Given the description of an element on the screen output the (x, y) to click on. 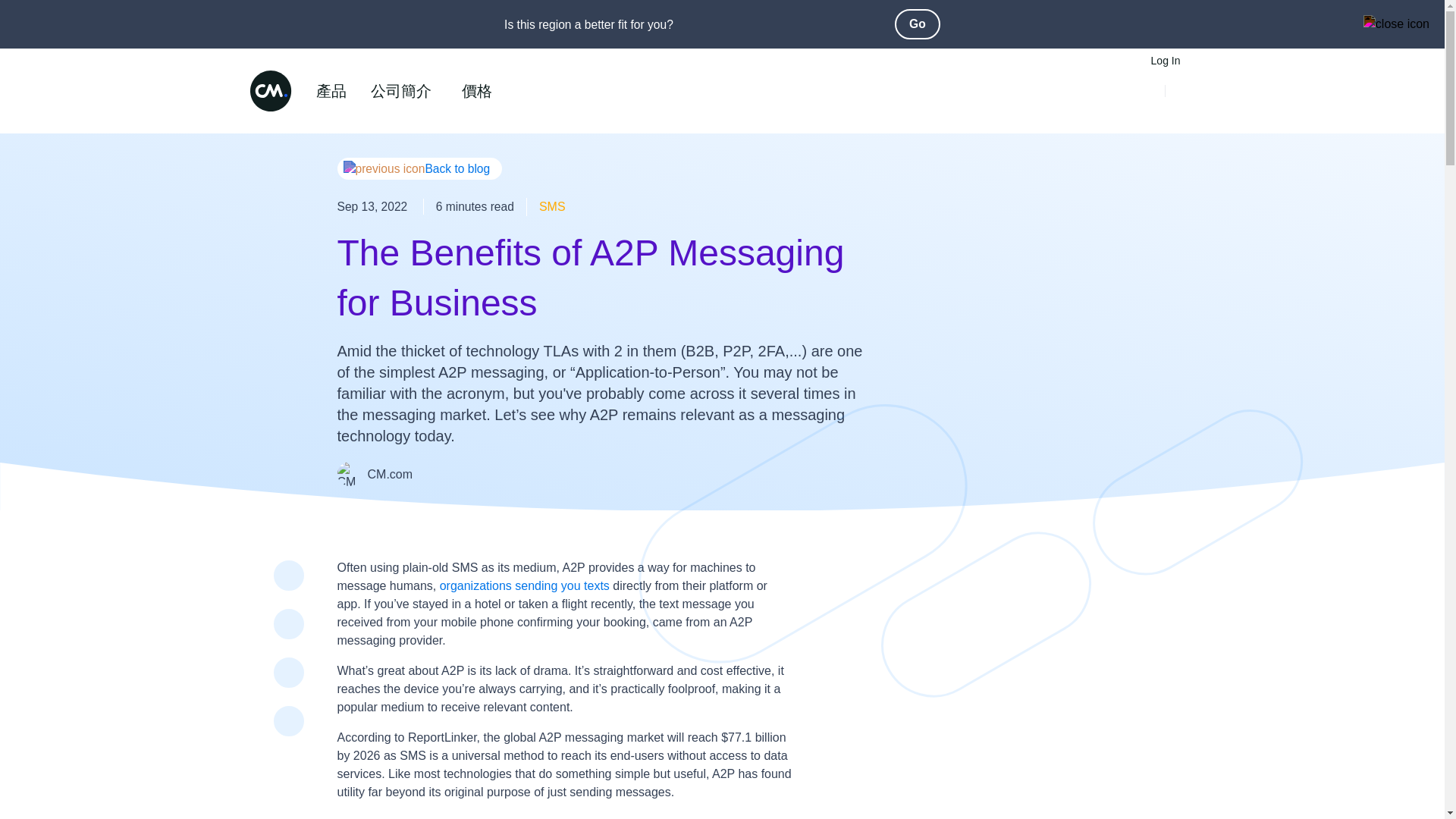
logo whatsapp icon (288, 720)
CM.com (269, 90)
copy icon (288, 760)
SMS (552, 205)
Log In (1165, 60)
Back to blog (419, 168)
logo facebook icon (288, 623)
logo x icon (288, 672)
logo linkedin icon (288, 575)
CM.com (389, 473)
organizations sending you texts (524, 585)
